Given the description of an element on the screen output the (x, y) to click on. 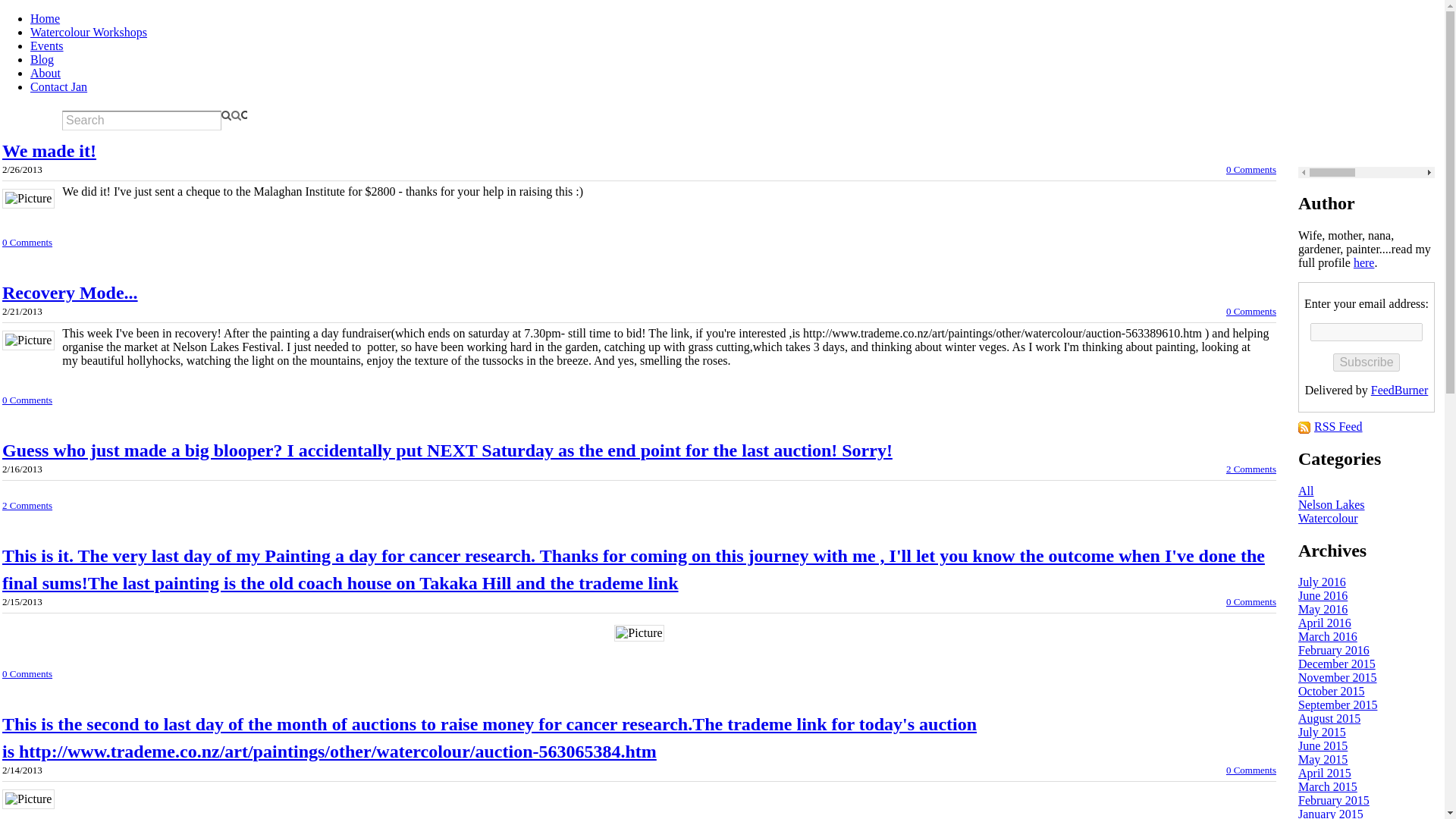
0 Comments (27, 673)
Subscribe (1366, 361)
2 Comments (1250, 469)
0 Comments (1250, 310)
Watercolour Workshops (88, 31)
Recovery Mode... (70, 292)
0 Comments (1250, 601)
Blog (41, 59)
0 Comments (1250, 769)
0 Comments (27, 242)
Home (44, 18)
Contact Jan (58, 86)
0 Comments (1250, 169)
